Given the description of an element on the screen output the (x, y) to click on. 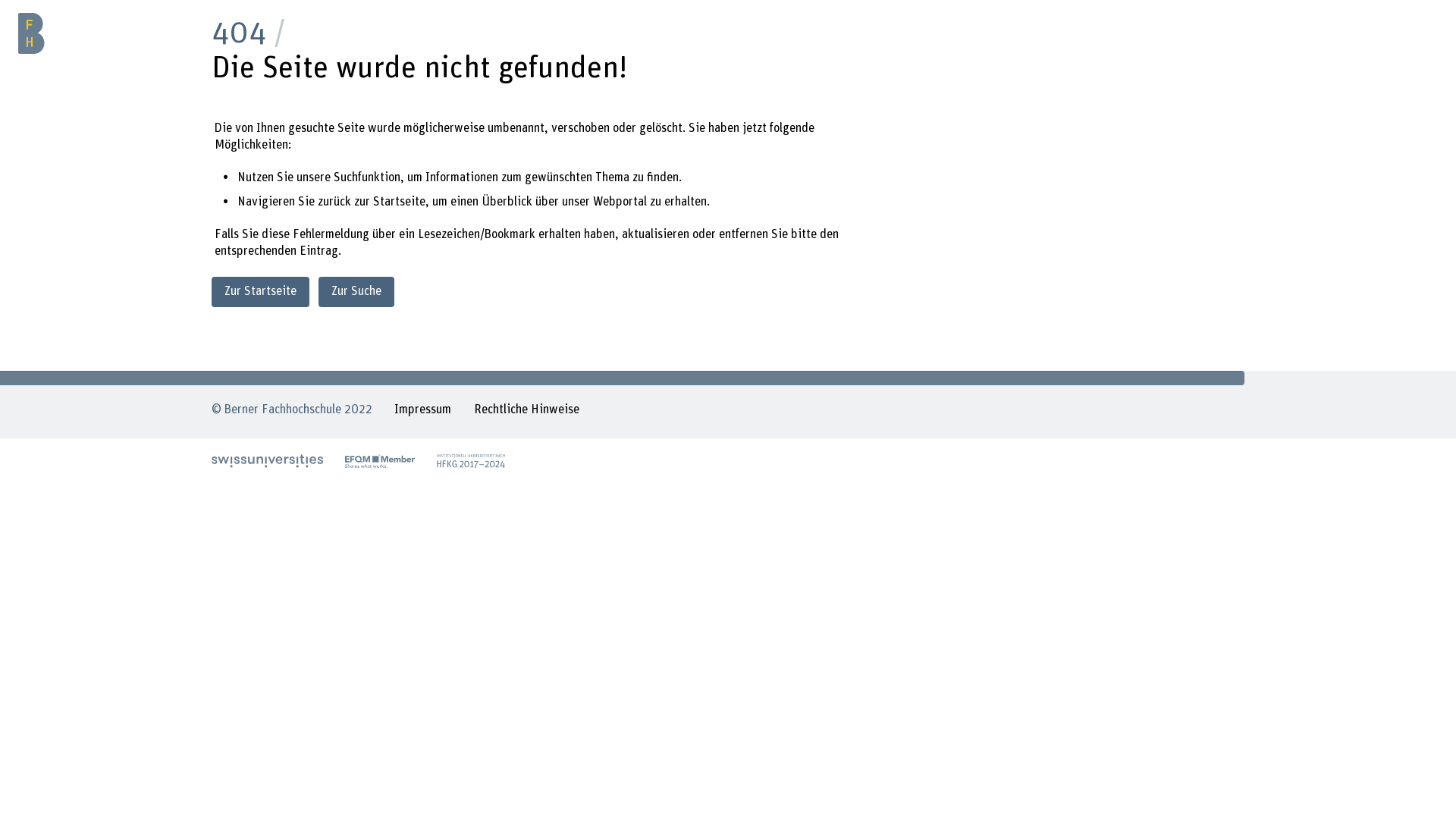
Rechtliche Hinweise Element type: text (525, 411)
Zur Startseite Element type: text (260, 291)
swissuniversities Element type: hover (267, 460)
Suchfunktion Element type: text (366, 177)
Akkreditierung Element type: hover (470, 460)
Startseite Element type: text (399, 201)
Impressum Element type: text (422, 411)
Zur Suche Element type: text (356, 291)
EFQM Member Element type: hover (379, 460)
